Given the description of an element on the screen output the (x, y) to click on. 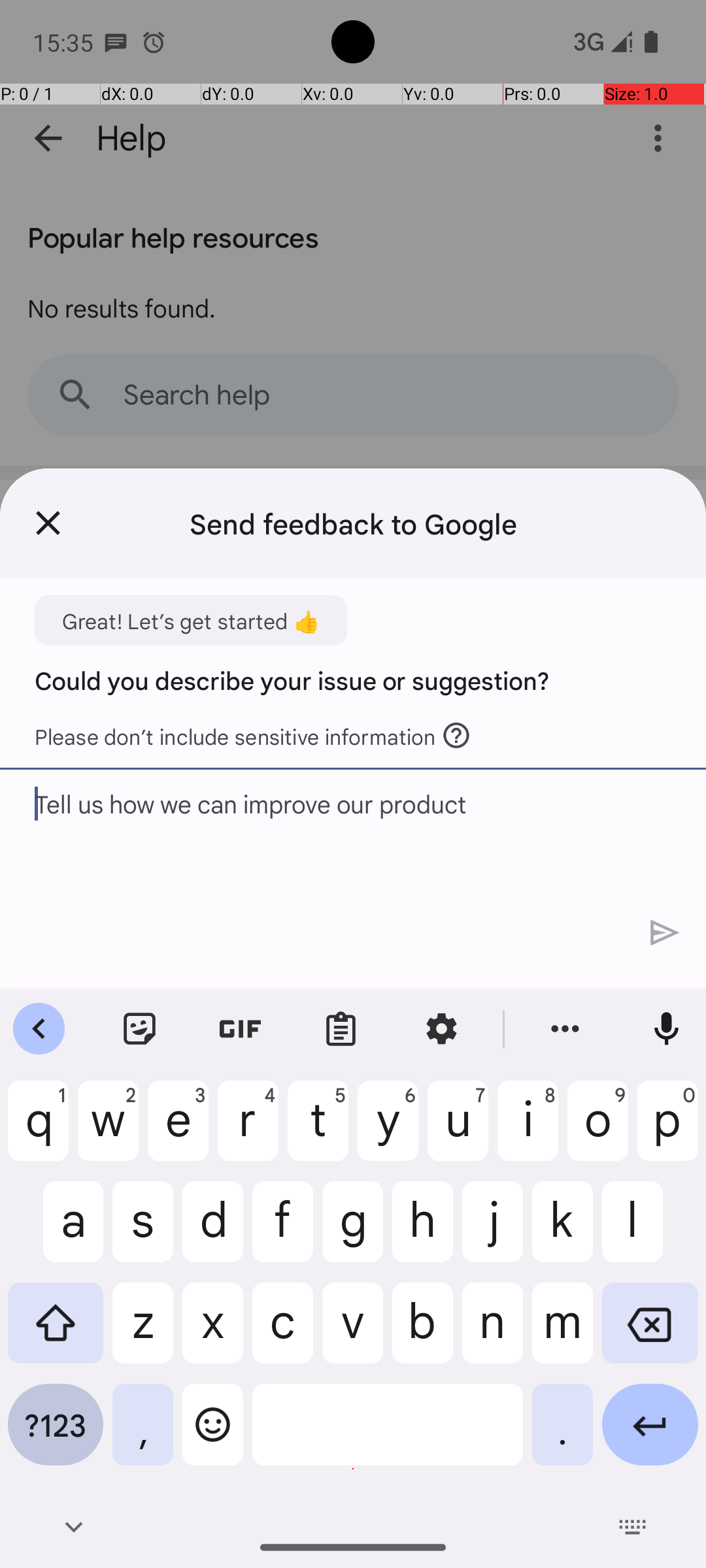
Send feedback to Google Element type: android.view.ViewGroup (353, 523)
Great! Let’s get started 👍 Element type: android.widget.TextView (190, 620)
Could you describe your issue or suggestion? Element type: android.widget.TextView (291, 679)
Please don’t include sensitive information   Element type: android.widget.TextView (252, 732)
Close Feedback Element type: android.widget.ImageButton (48, 522)
Tell us how we can improve our product Element type: android.widget.EditText (312, 880)
Submit the feedback that you entered Element type: android.widget.Button (665, 932)
